Given the description of an element on the screen output the (x, y) to click on. 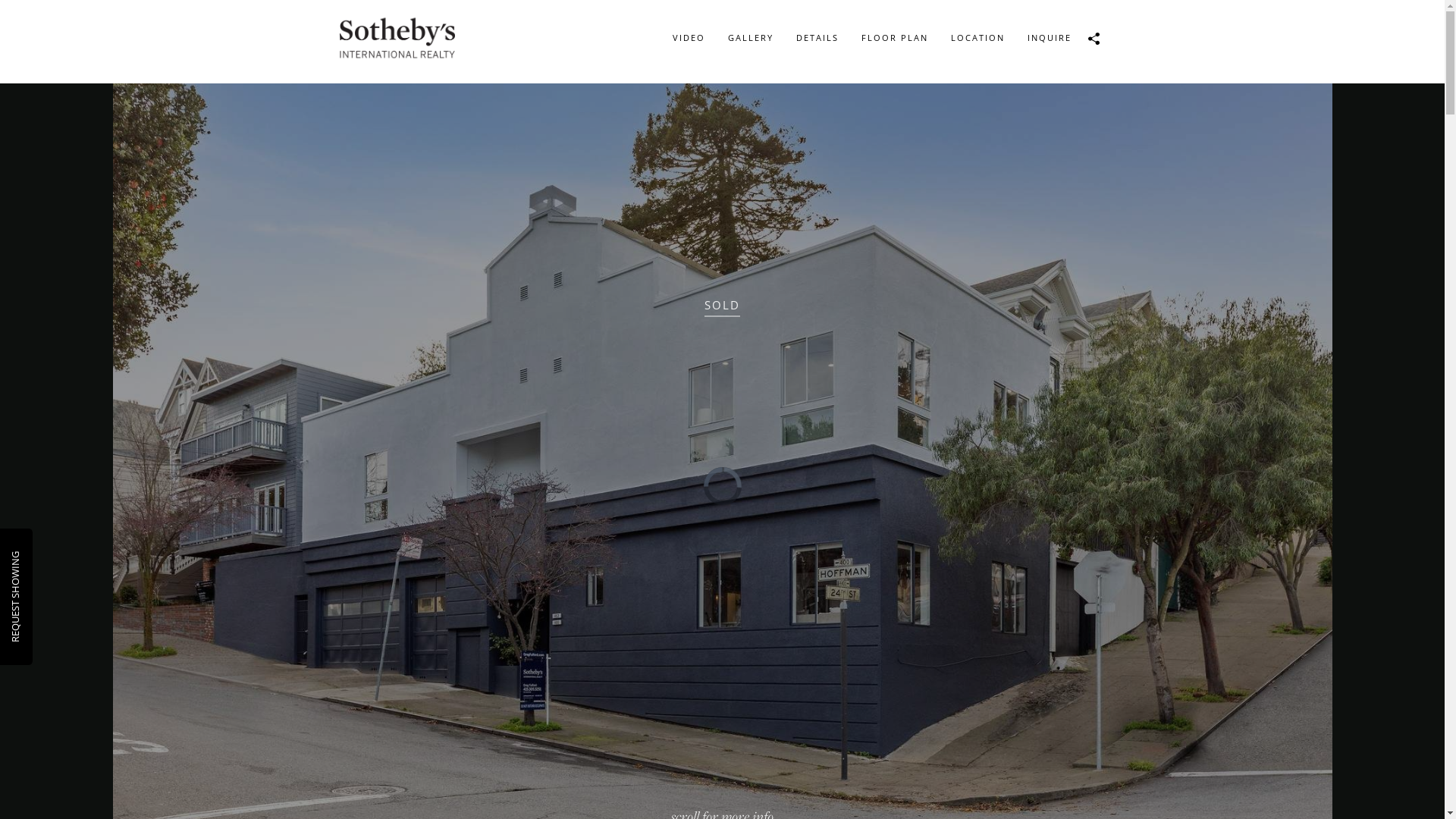
DETAILS Element type: text (816, 37)
INQUIRE Element type: text (1049, 37)
REQUEST SHOWING Element type: text (53, 557)
GALLERY Element type: text (749, 37)
VIDEO Element type: text (688, 37)
LOCATION Element type: text (976, 37)
FLOOR PLAN Element type: text (893, 37)
